Given the description of an element on the screen output the (x, y) to click on. 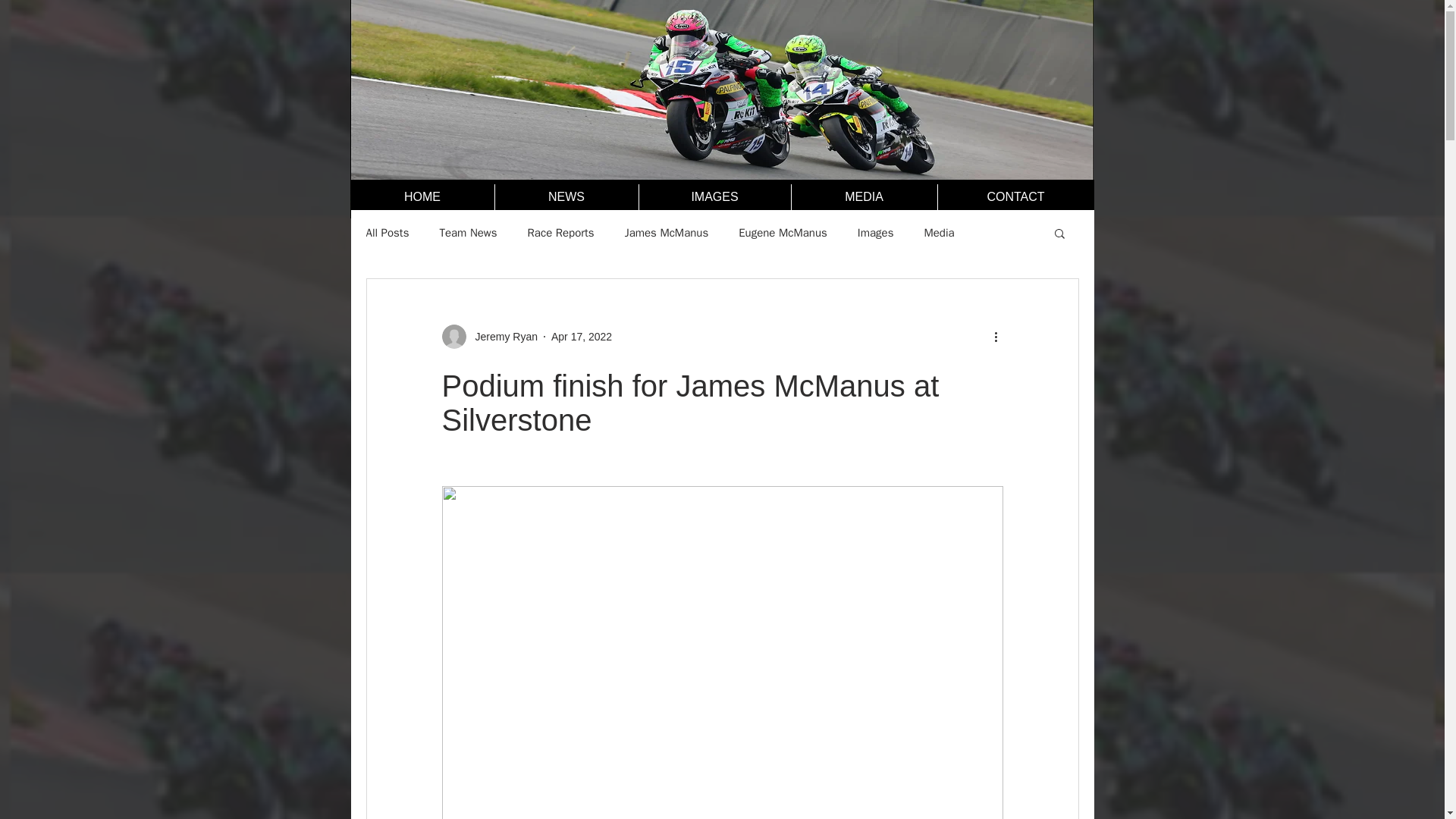
Team News (467, 233)
Media (938, 233)
IMAGES (714, 196)
Images (875, 233)
James McManus (666, 233)
NEWS (567, 196)
HOME (421, 196)
MEDIA (863, 196)
Race Reports (560, 233)
Apr 17, 2022 (581, 336)
Eugene McManus (782, 233)
All Posts (387, 233)
CONTACT (1015, 196)
Jeremy Ryan (501, 336)
